Given the description of an element on the screen output the (x, y) to click on. 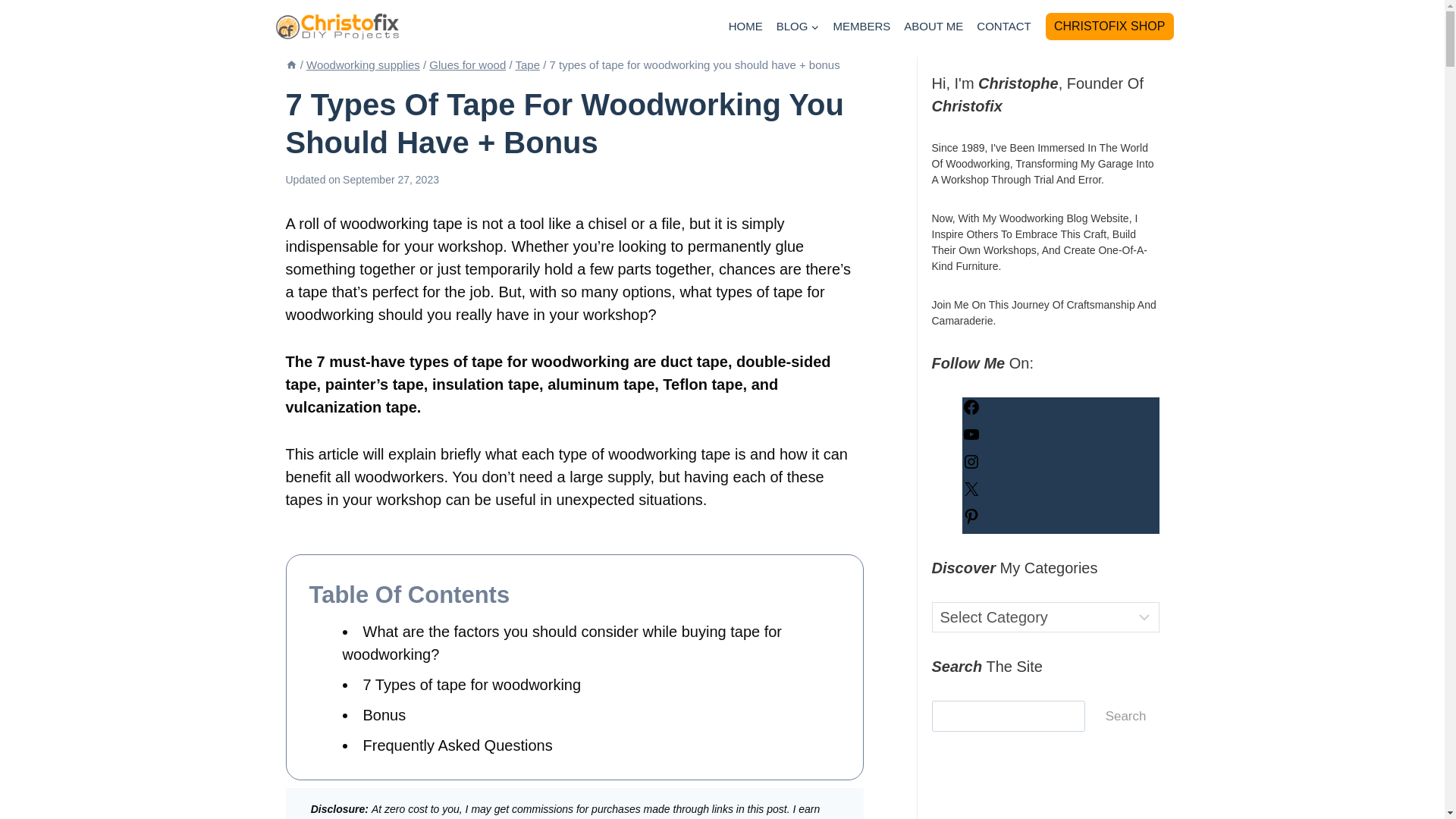
HOME (746, 26)
BLOG (798, 26)
